Given the description of an element on the screen output the (x, y) to click on. 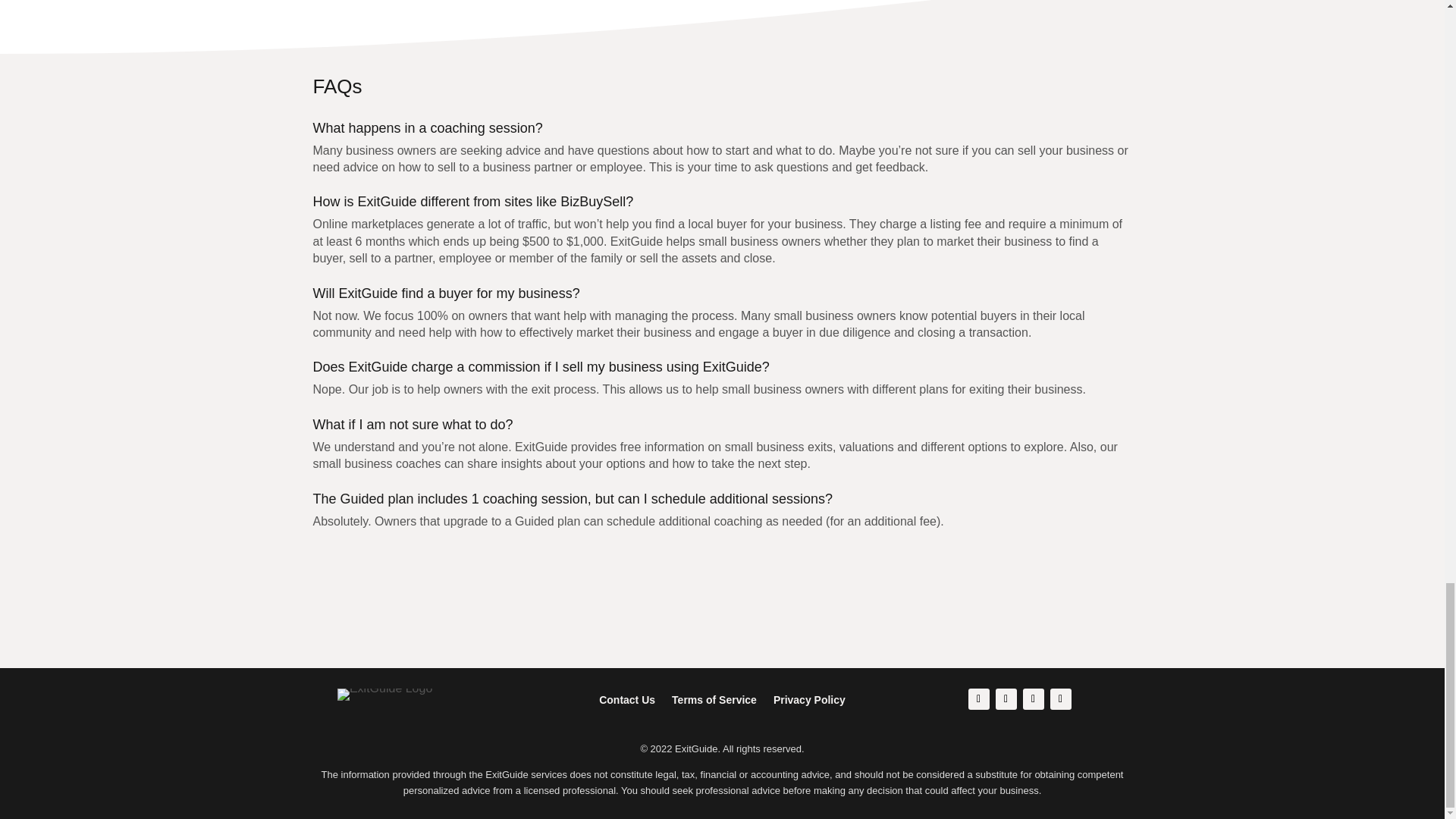
Privacy Policy (809, 696)
Follow on Youtube (1059, 699)
Follow on Facebook (978, 699)
Terms of Service (714, 696)
Follow on LinkedIn (1032, 699)
Follow on X (1005, 699)
Contact Us (626, 696)
